Given the description of an element on the screen output the (x, y) to click on. 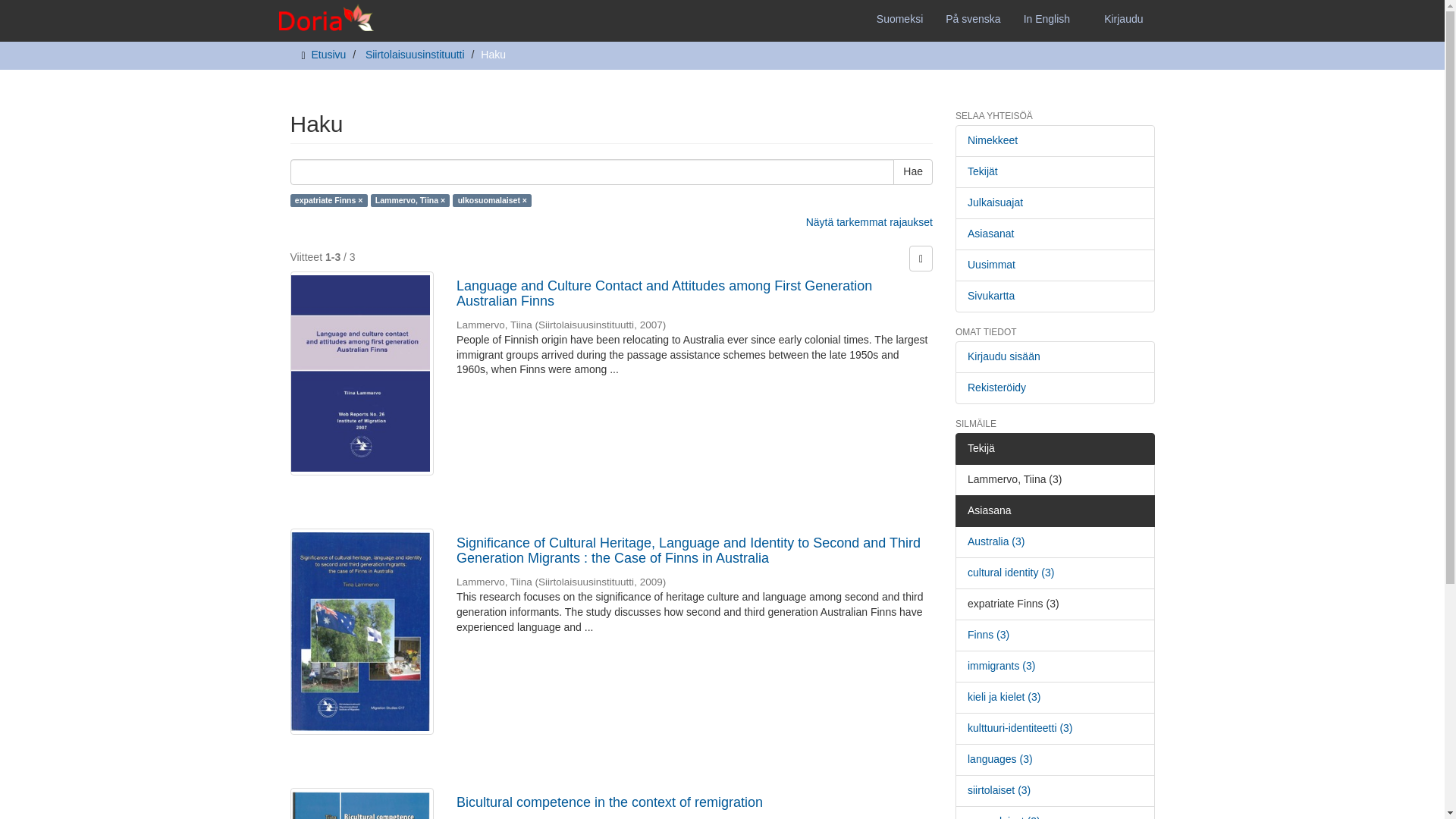
Etusivu (328, 54)
Siirtolaisuusinstituutti (414, 54)
Suomeksi (899, 18)
Kirjaudu (1123, 18)
Hae (913, 171)
In English (1046, 18)
